Given the description of an element on the screen output the (x, y) to click on. 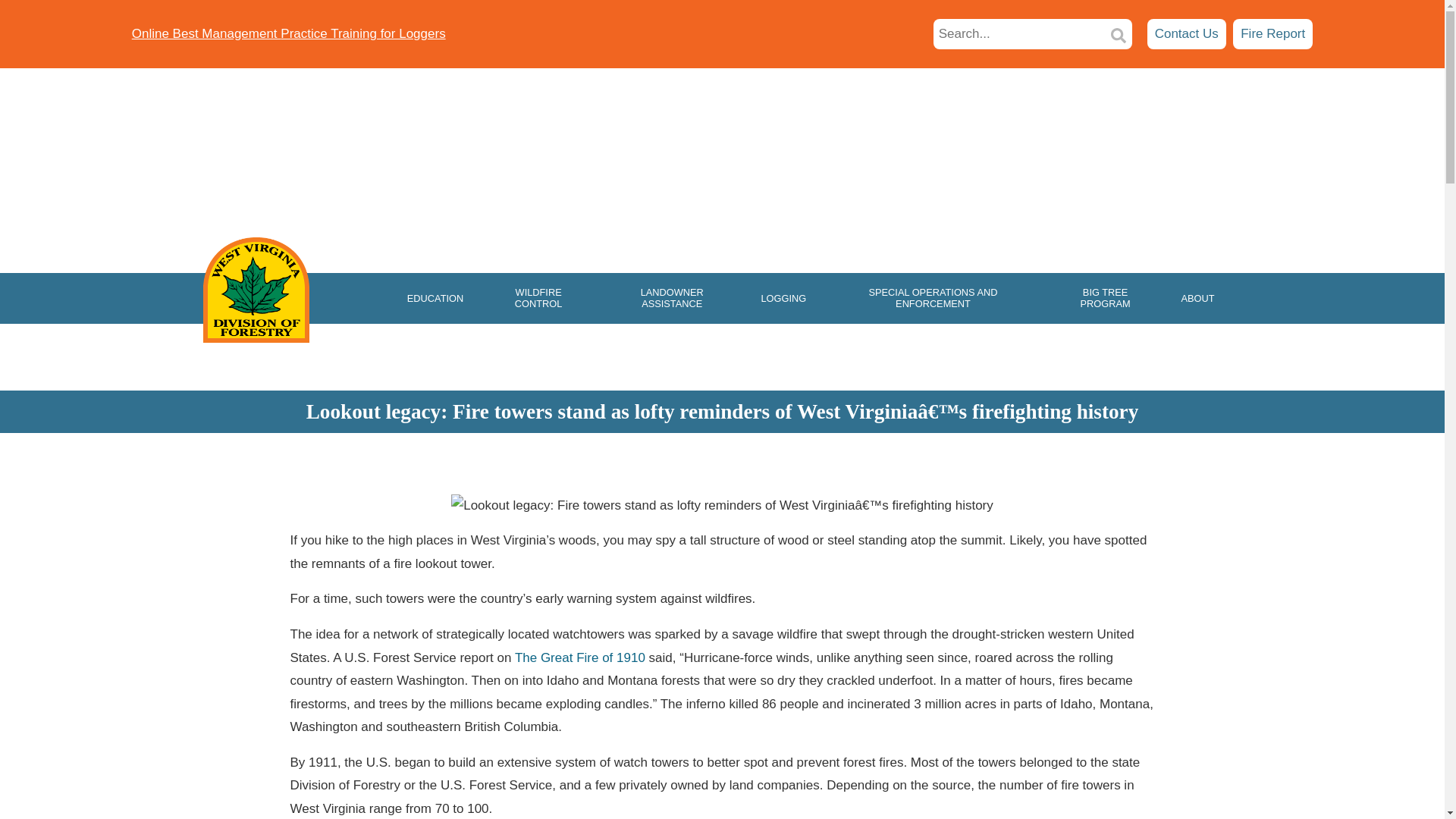
Submit (1118, 33)
Search (1019, 33)
Fire Report (288, 34)
Contact Us (1273, 33)
